Given the description of an element on the screen output the (x, y) to click on. 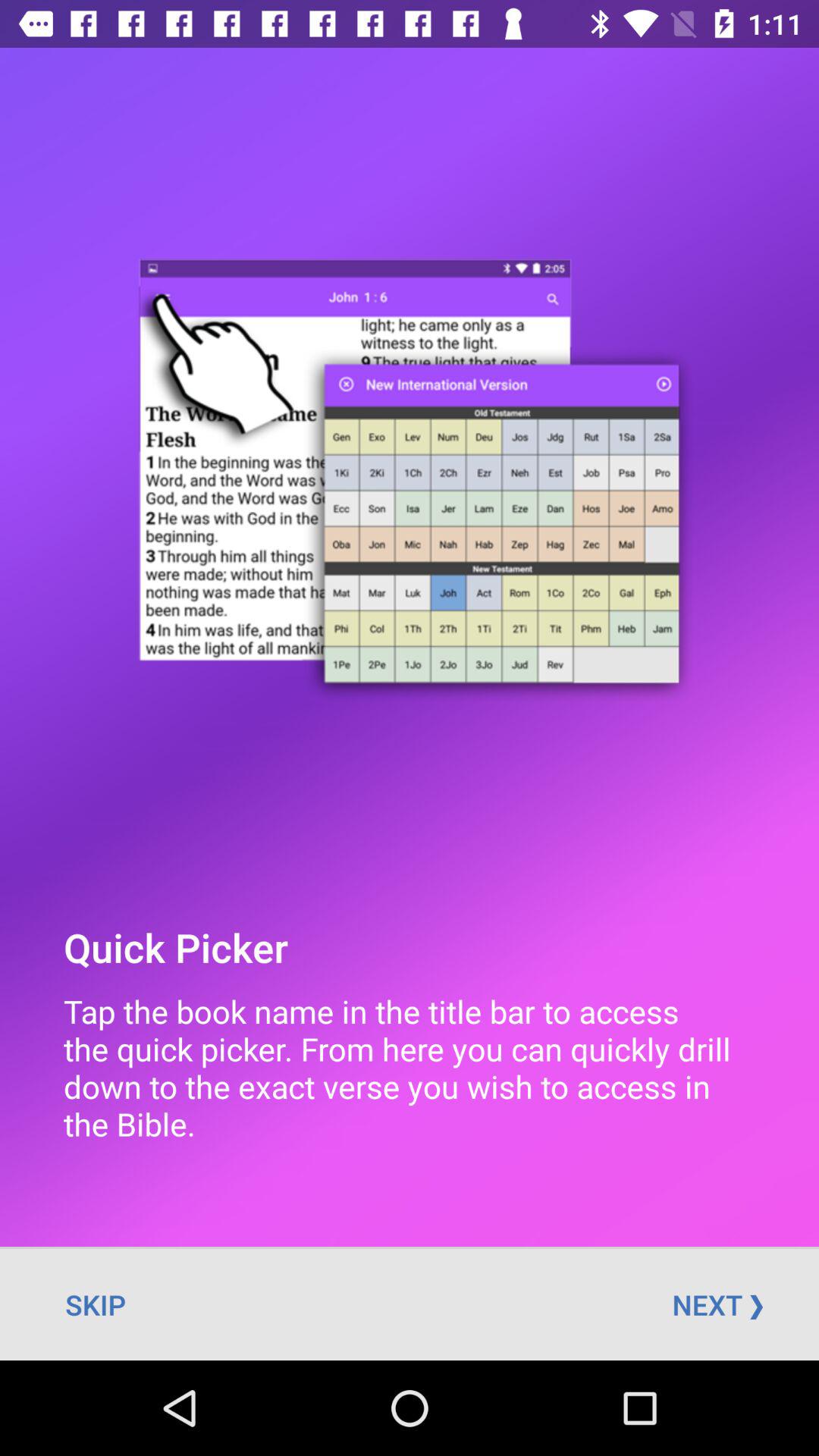
click skip at the bottom left corner (95, 1304)
